Given the description of an element on the screen output the (x, y) to click on. 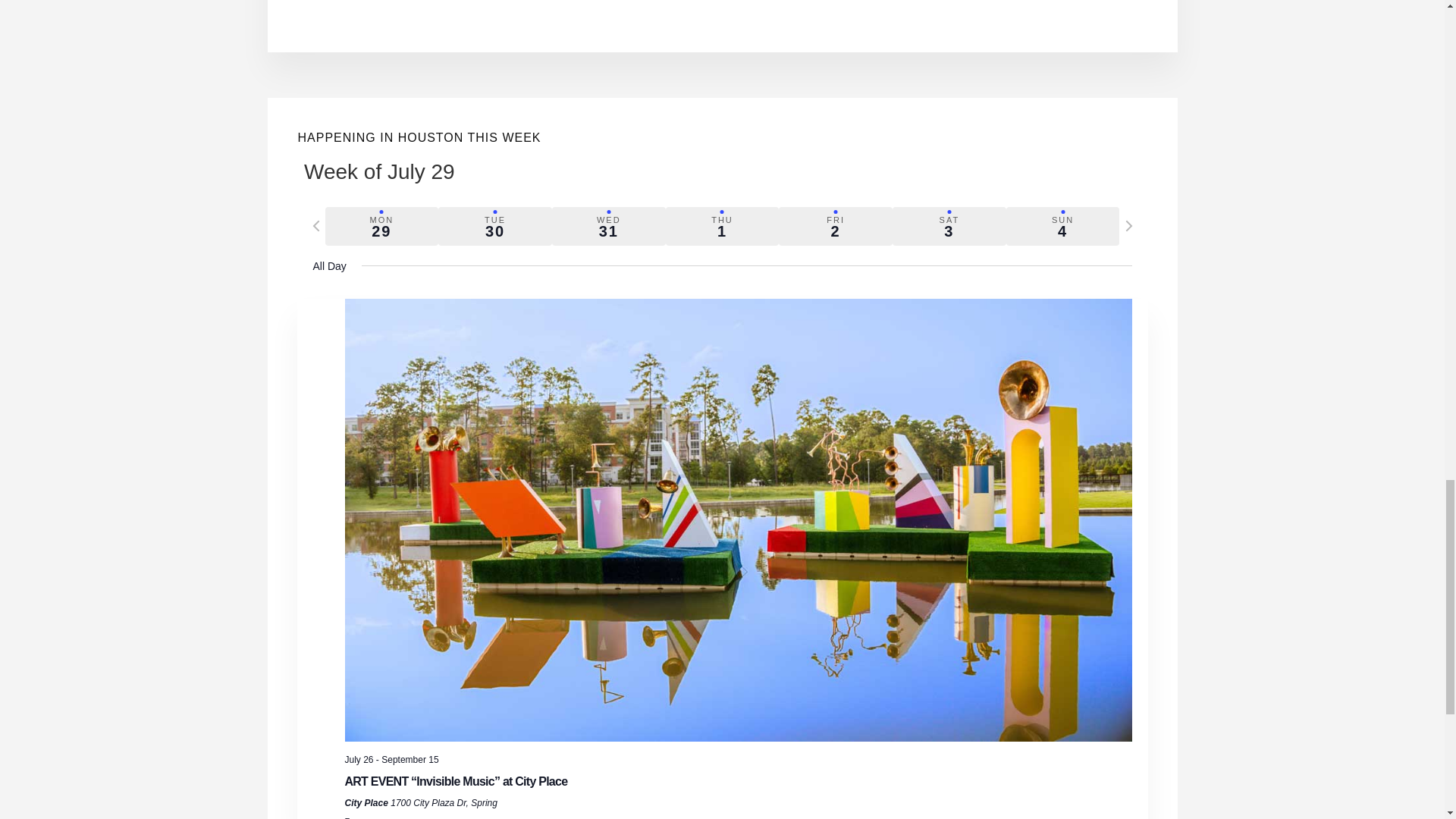
Has events (381, 226)
Has events (949, 226)
Has events (608, 226)
